Given the description of an element on the screen output the (x, y) to click on. 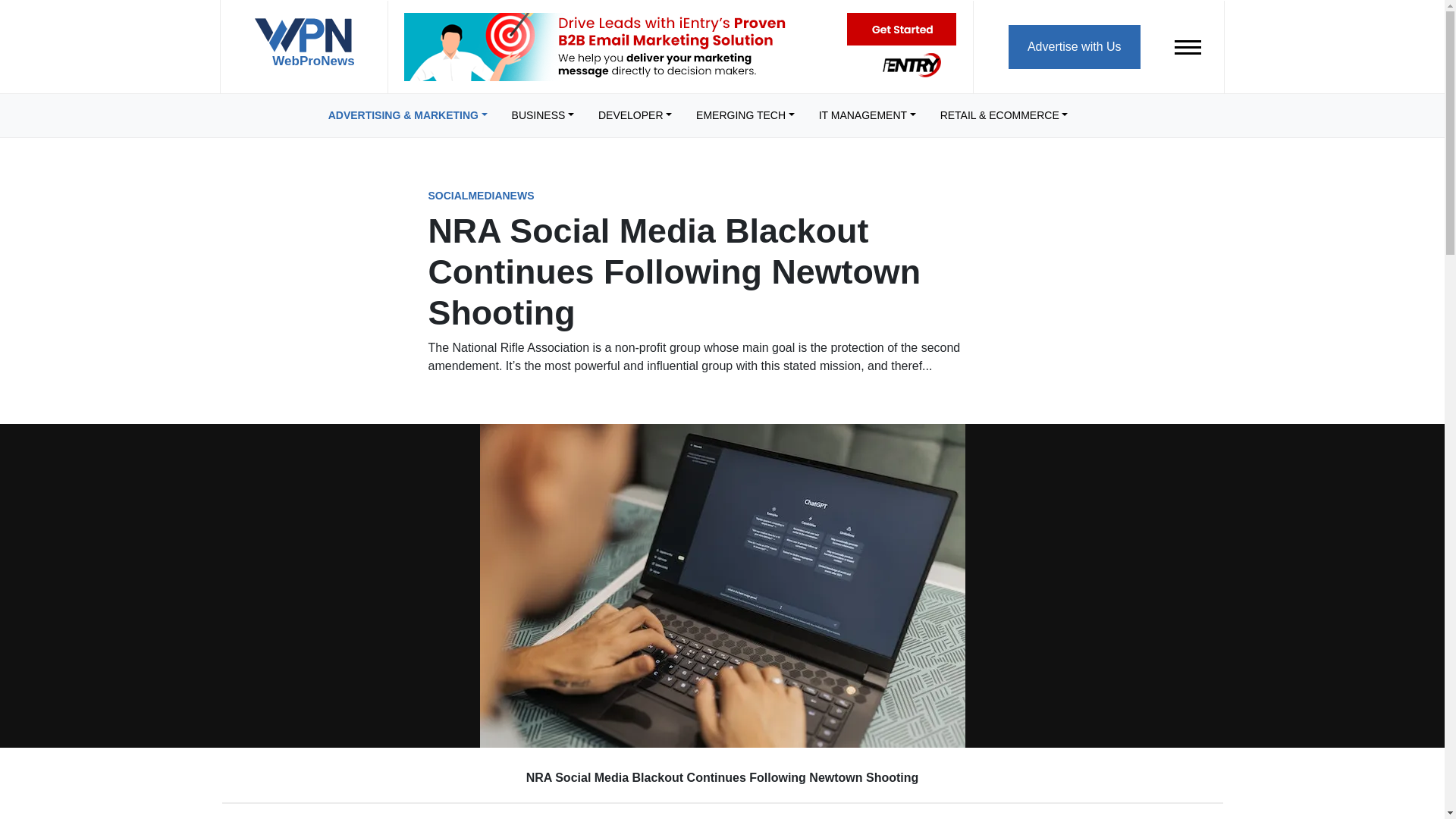
WebProNews (303, 49)
Advertise with Us (1074, 45)
